Given the description of an element on the screen output the (x, y) to click on. 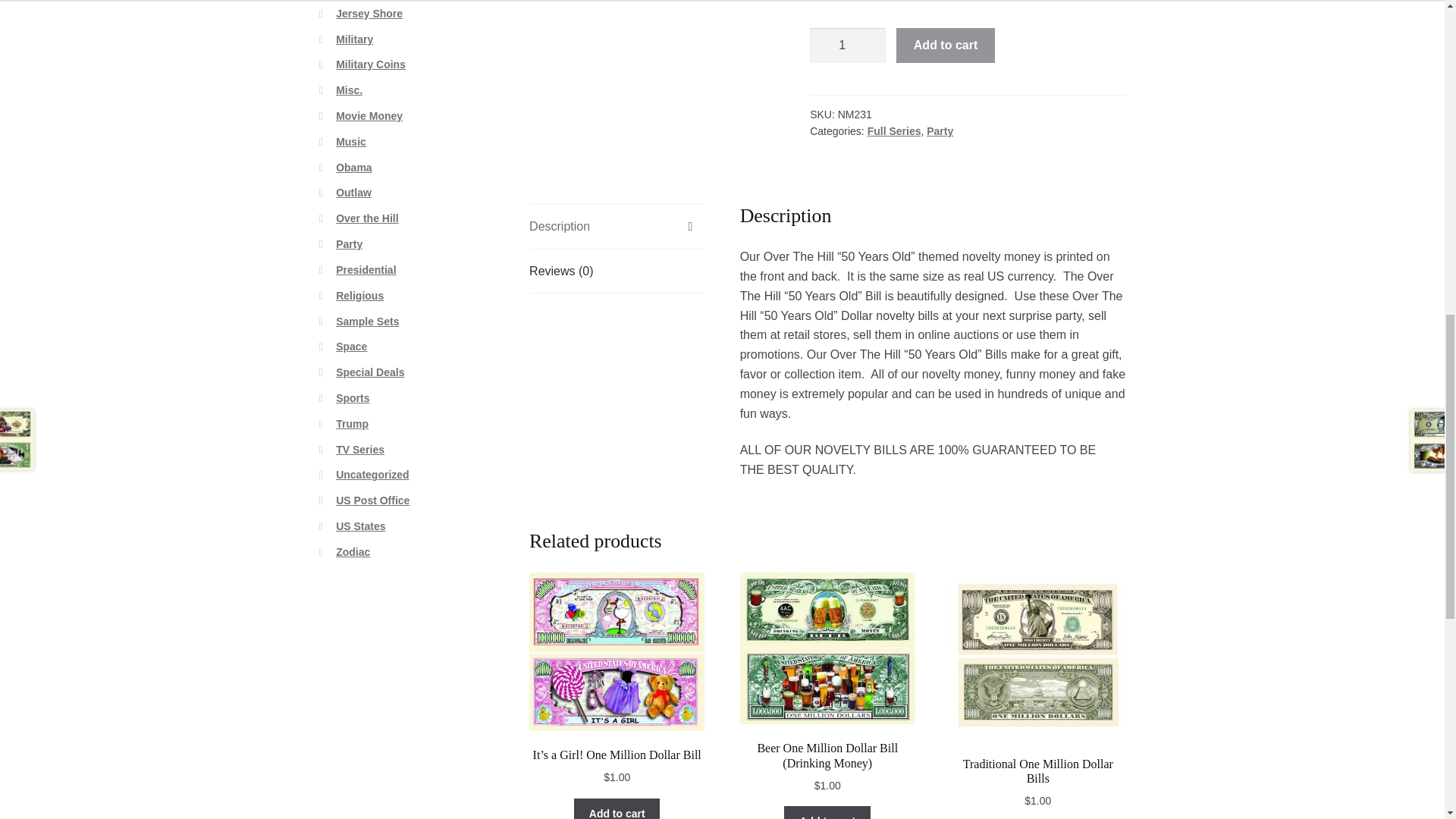
1 (847, 45)
